Given the description of an element on the screen output the (x, y) to click on. 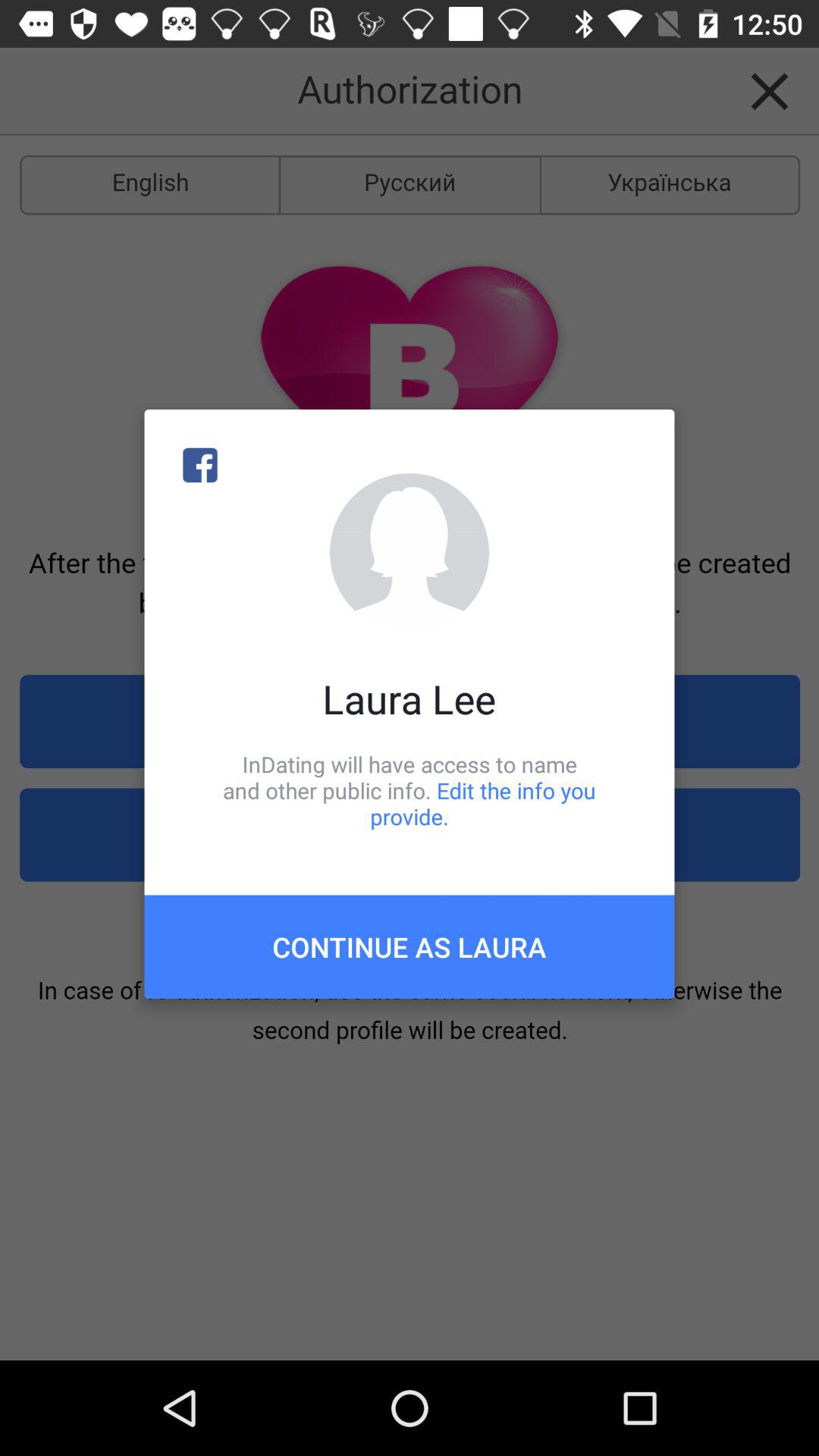
turn on the indating will have icon (409, 790)
